Given the description of an element on the screen output the (x, y) to click on. 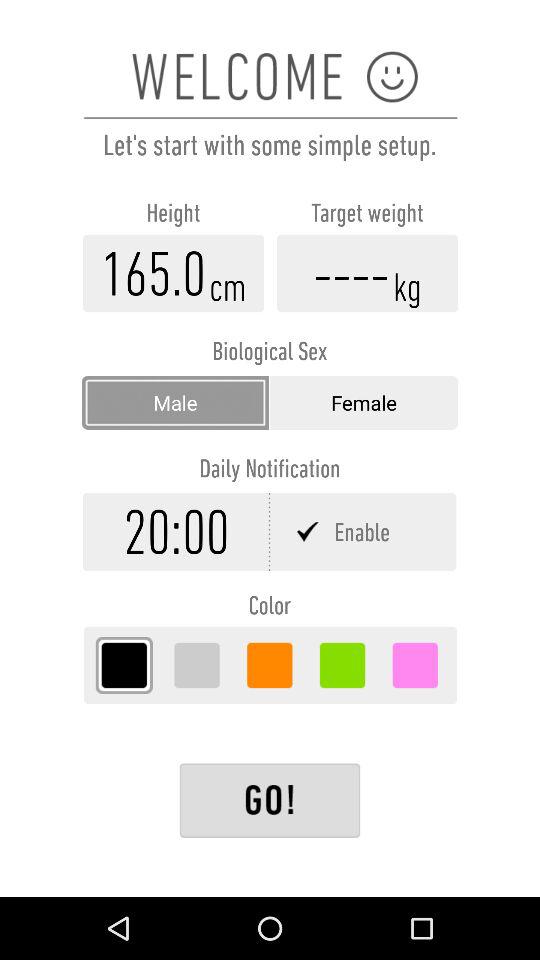
choose the color purple (415, 665)
